Given the description of an element on the screen output the (x, y) to click on. 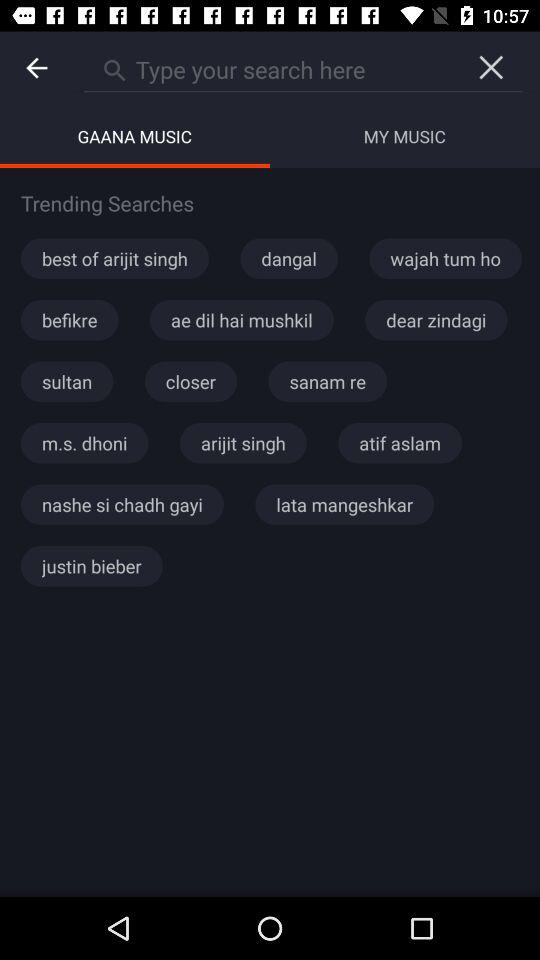
jump to befikre app (69, 320)
